Given the description of an element on the screen output the (x, y) to click on. 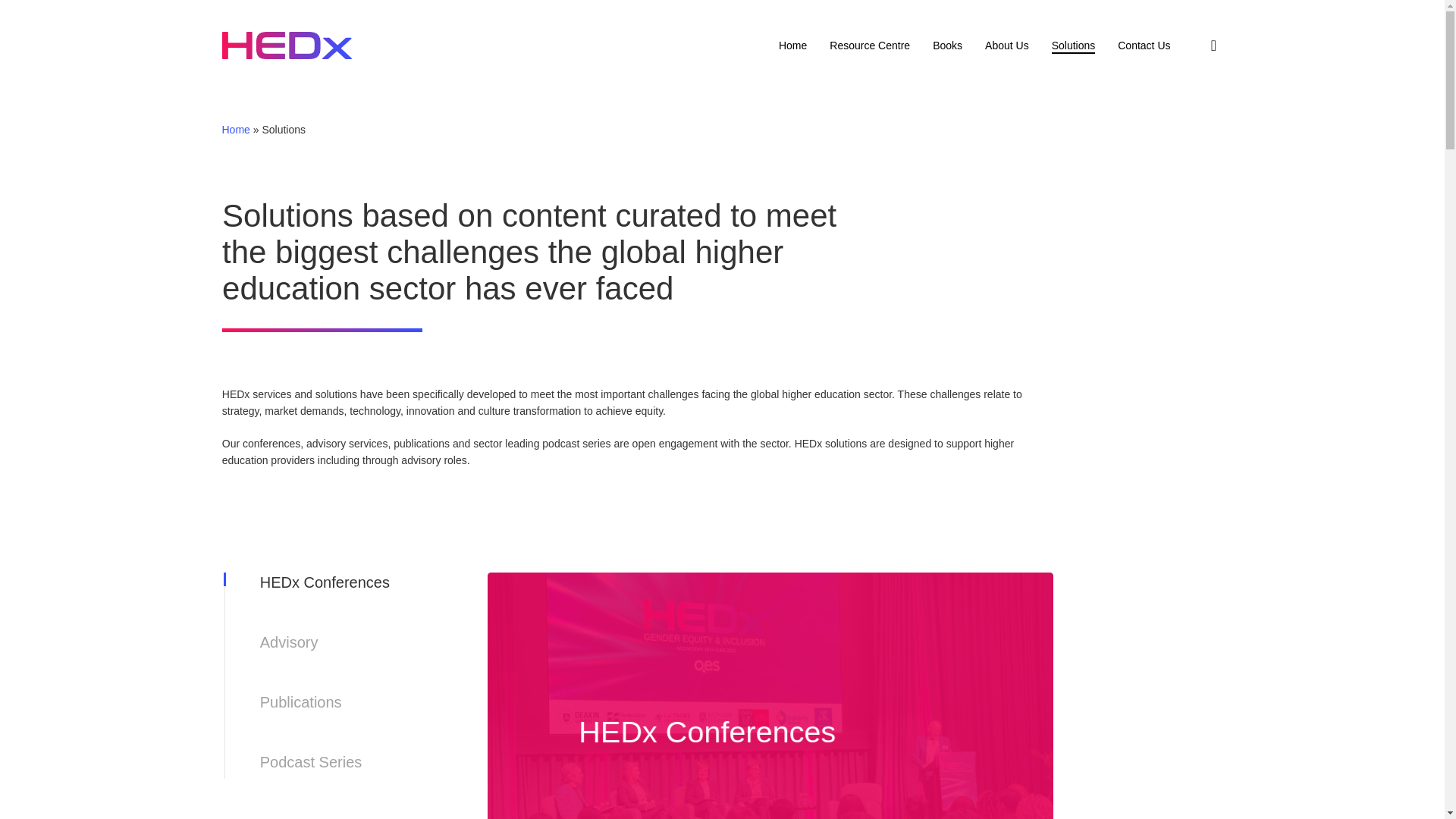
Podcast Series (311, 760)
search (850, 603)
Contact Us (850, 531)
About Us (1213, 45)
HEDx Conferences (1144, 45)
Home (1007, 45)
Solutions (325, 580)
Books (792, 45)
Resource Centre (1073, 45)
Advisory (947, 45)
Publications (869, 45)
Home (289, 639)
